Given the description of an element on the screen output the (x, y) to click on. 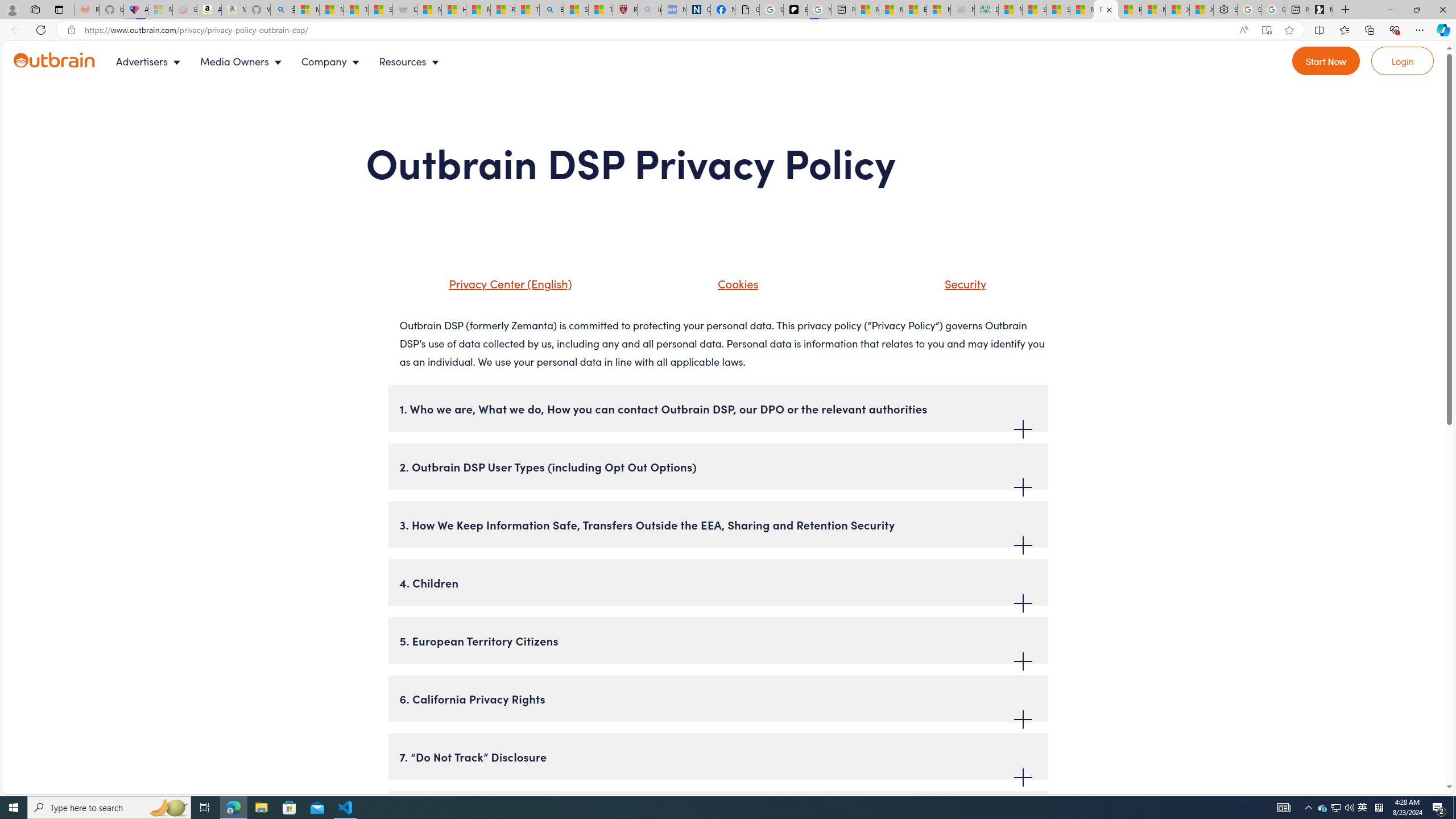
Privacy Center (English) (495, 287)
Cookies (734, 282)
MSN (1082, 9)
Science - MSN (575, 9)
